Given the description of an element on the screen output the (x, y) to click on. 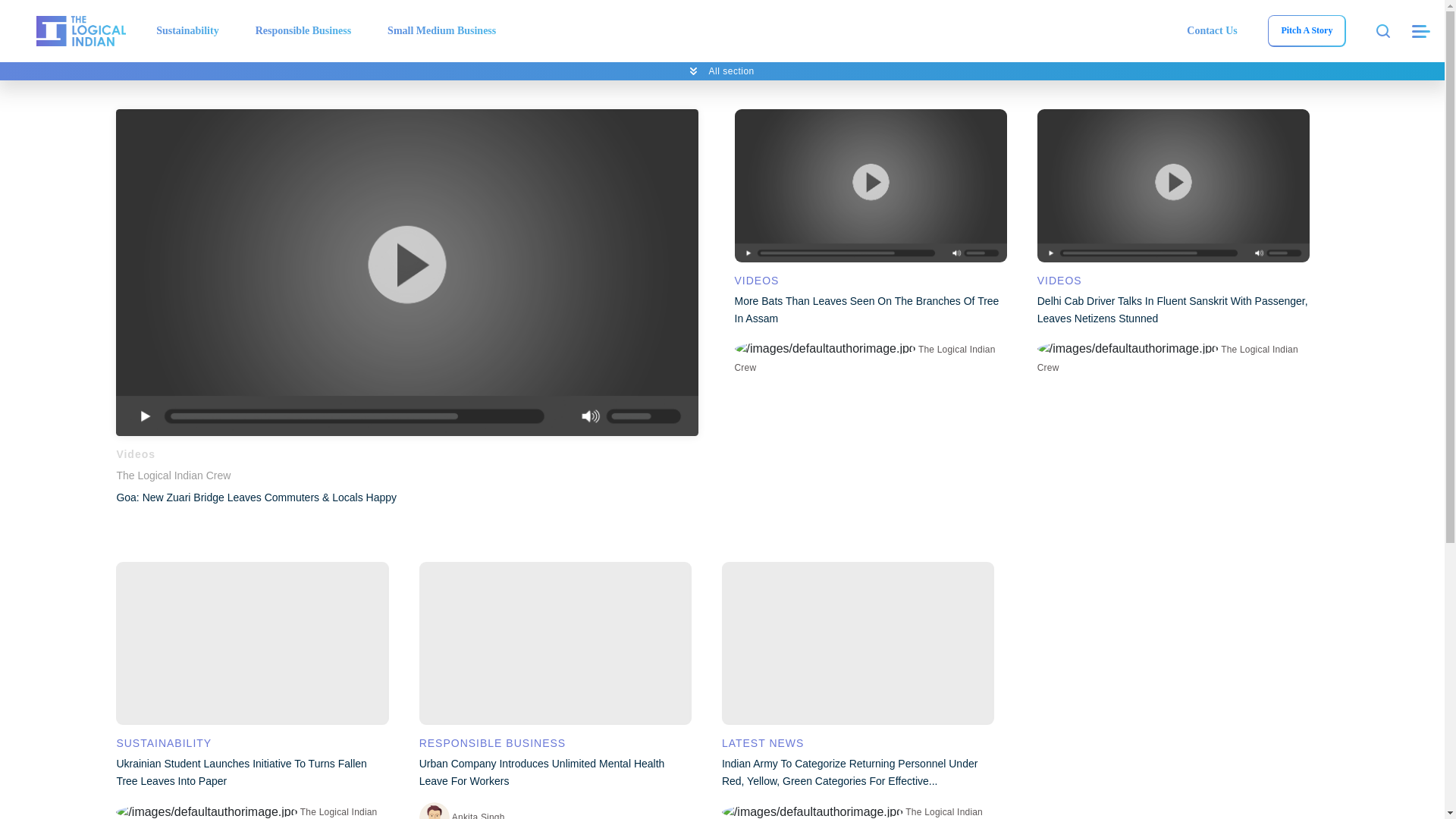
Sustainability (186, 30)
The Logical Indian (80, 30)
Pitch A Story (1305, 30)
Small Medium Business (441, 30)
Responsible Business (303, 30)
More Bats Than Leaves Seen On The Branches Of Tree In Assam (869, 185)
